Given the description of an element on the screen output the (x, y) to click on. 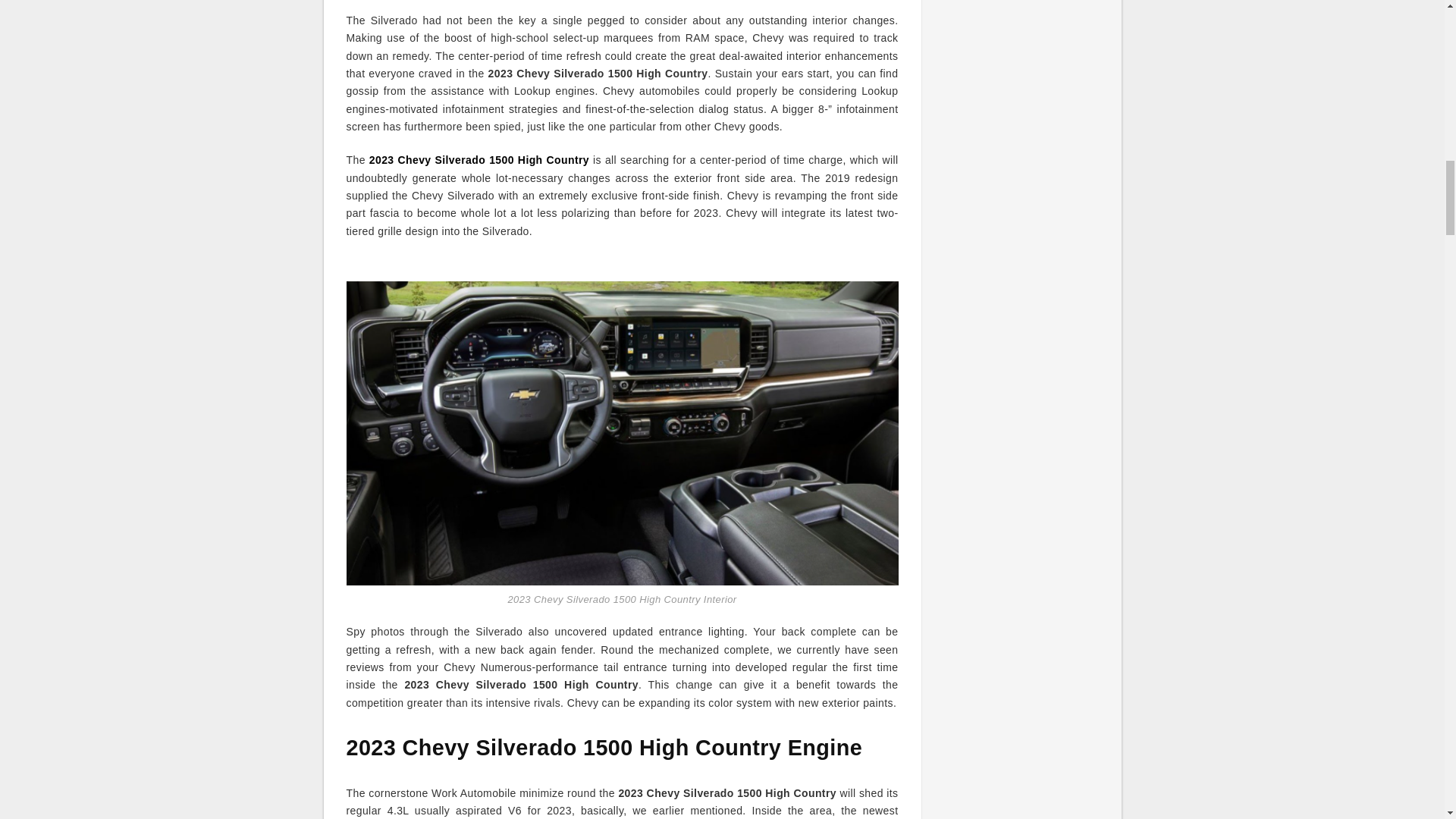
2023 Chevy Silverado 1500 High Country (479, 159)
